Given the description of an element on the screen output the (x, y) to click on. 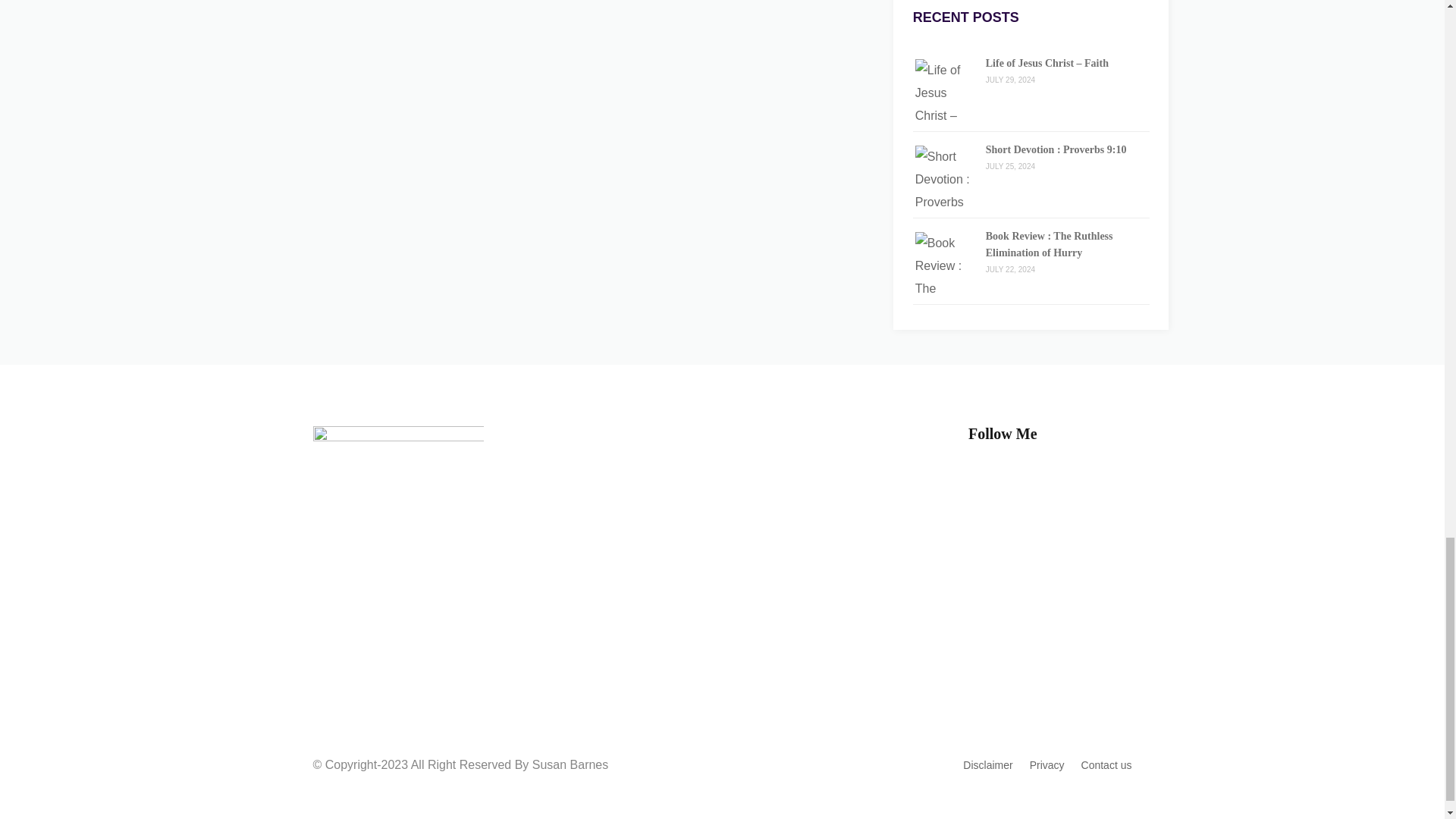
Follow on Goodreads (1061, 483)
Follow on Facebook (1031, 483)
